Given the description of an element on the screen output the (x, y) to click on. 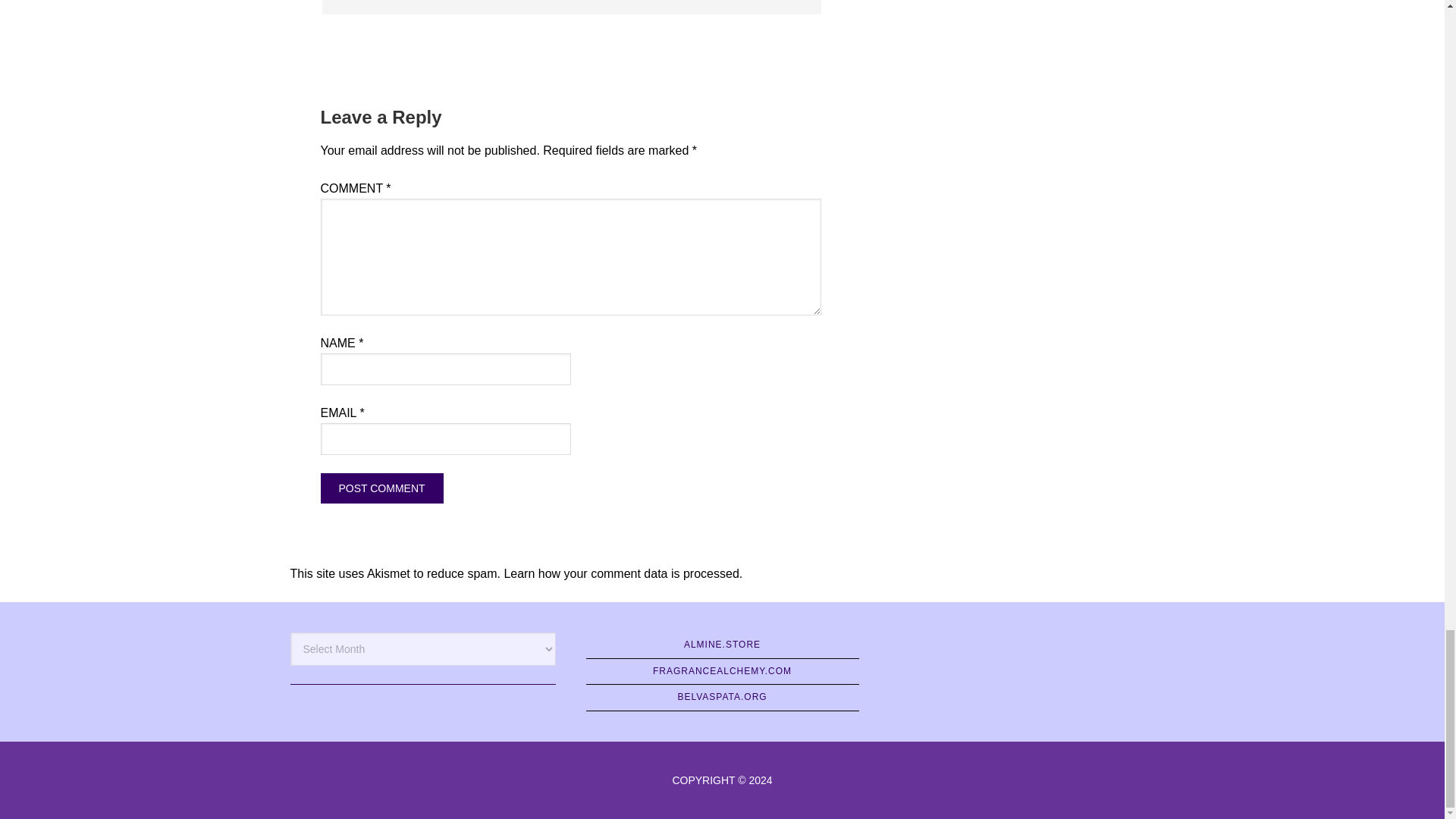
Post Comment (381, 488)
Learn how your comment data is processed (620, 573)
Post Comment (381, 488)
